Given the description of an element on the screen output the (x, y) to click on. 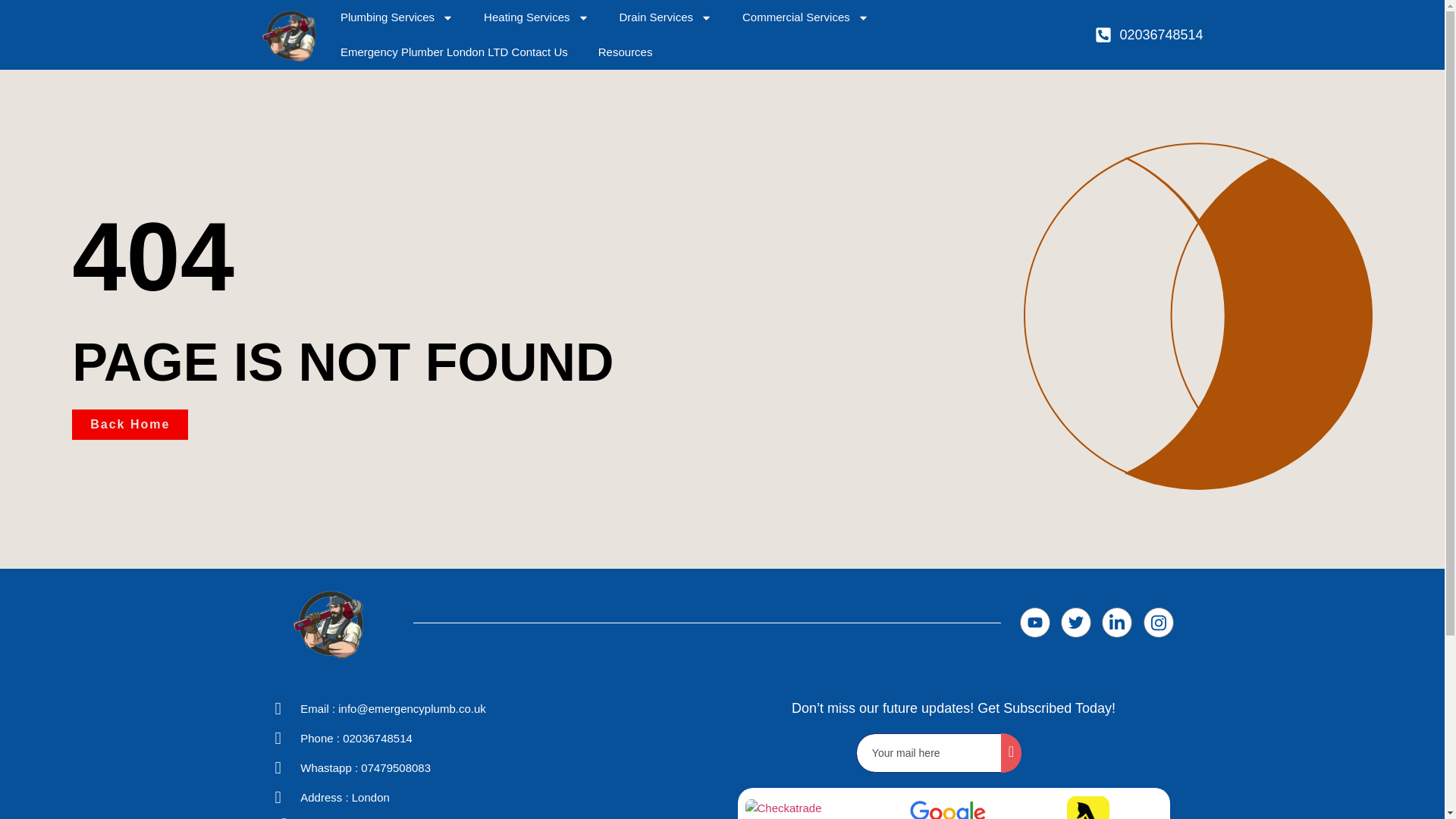
Plumbing Services (396, 17)
logo (1088, 807)
Heating Services (536, 17)
Drain Services (665, 17)
